Given the description of an element on the screen output the (x, y) to click on. 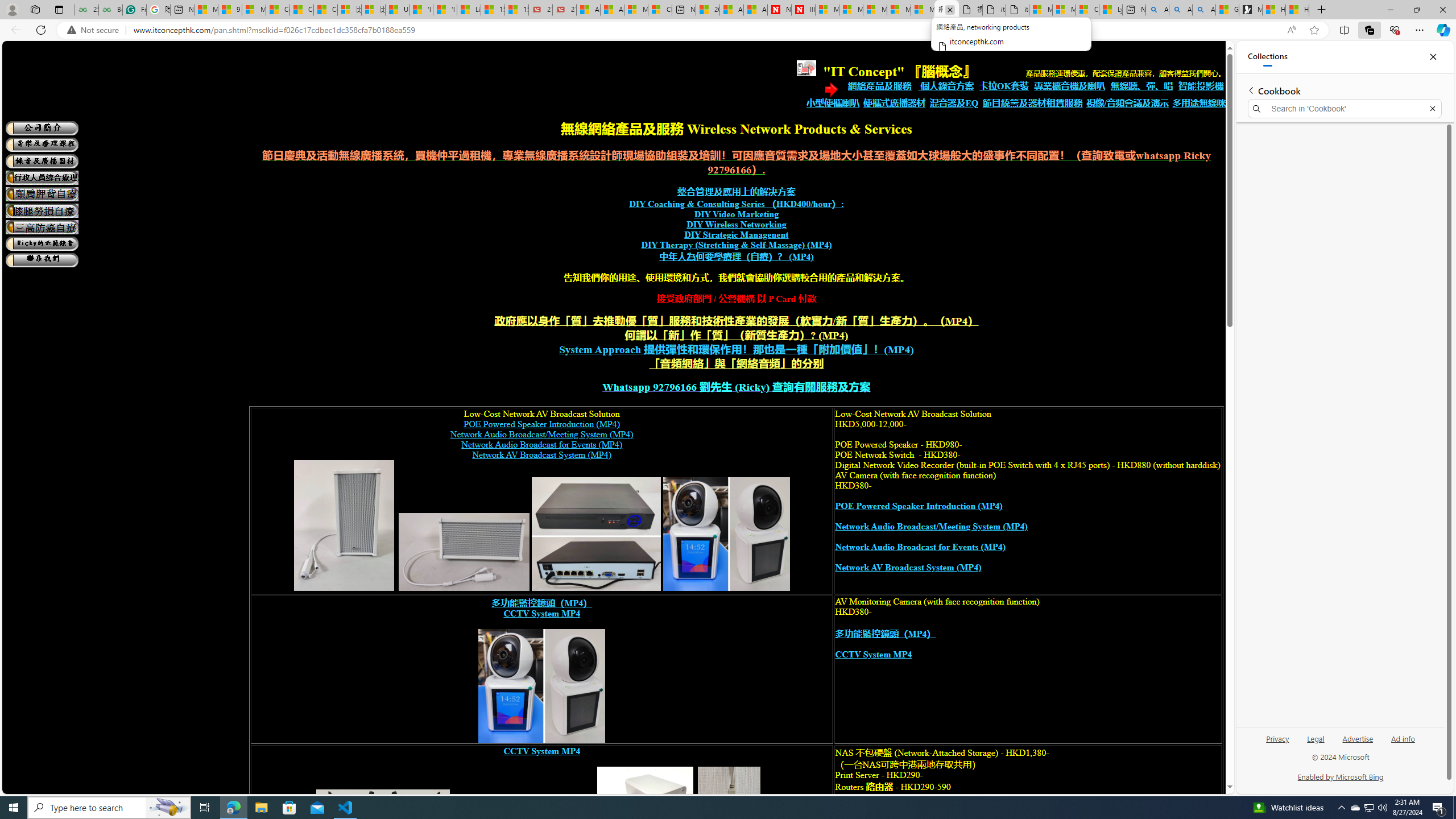
Network AV Broadcast System (MP4) (907, 567)
Search in 'Cookbook' (1345, 108)
USA TODAY - MSN (396, 9)
How to Use a TV as a Computer Monitor (1297, 9)
